Given the description of an element on the screen output the (x, y) to click on. 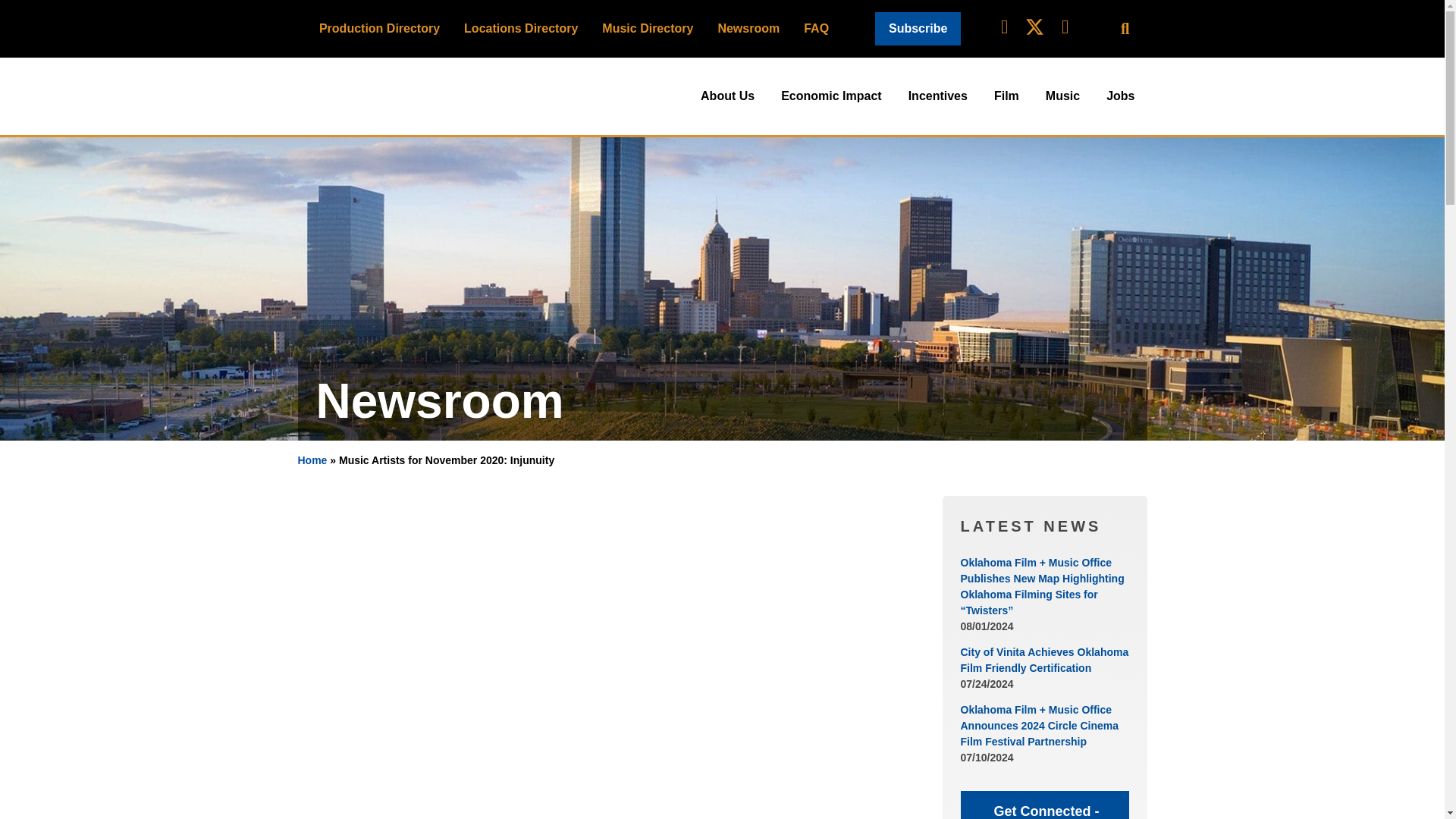
Locations Directory (520, 28)
Film (1005, 95)
FAQ (816, 28)
Music (1062, 95)
Music Directory (646, 28)
About Us (727, 95)
Subscribe (917, 28)
Production Directory (379, 28)
Incentives (937, 95)
Economic Impact (830, 95)
Newsroom (748, 28)
